Given the description of an element on the screen output the (x, y) to click on. 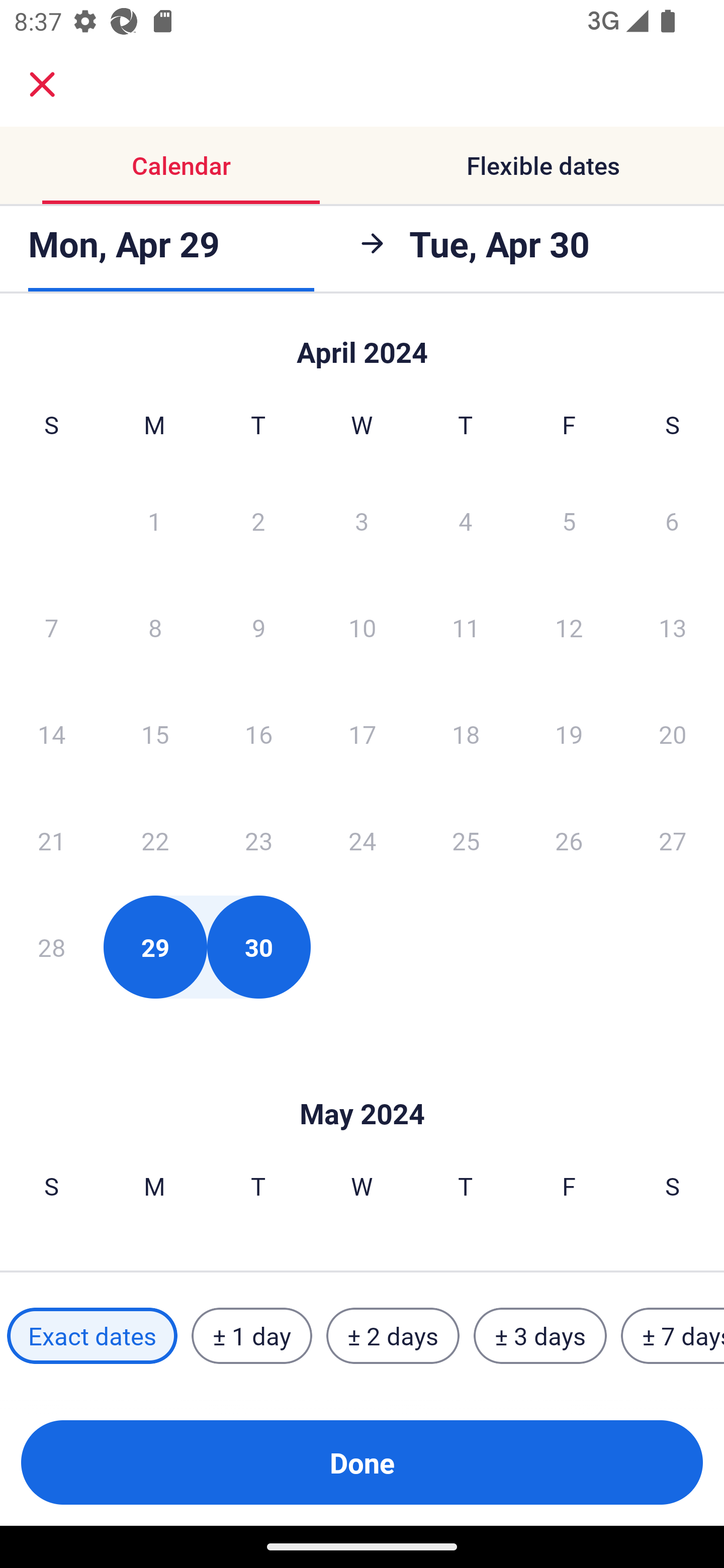
close. (42, 84)
Flexible dates (542, 164)
Skip to Done (362, 343)
1 Monday, April 1, 2024 (154, 520)
2 Tuesday, April 2, 2024 (257, 520)
3 Wednesday, April 3, 2024 (361, 520)
4 Thursday, April 4, 2024 (465, 520)
5 Friday, April 5, 2024 (568, 520)
6 Saturday, April 6, 2024 (672, 520)
7 Sunday, April 7, 2024 (51, 626)
8 Monday, April 8, 2024 (155, 626)
9 Tuesday, April 9, 2024 (258, 626)
10 Wednesday, April 10, 2024 (362, 626)
11 Thursday, April 11, 2024 (465, 626)
12 Friday, April 12, 2024 (569, 626)
13 Saturday, April 13, 2024 (672, 626)
14 Sunday, April 14, 2024 (51, 733)
15 Monday, April 15, 2024 (155, 733)
16 Tuesday, April 16, 2024 (258, 733)
17 Wednesday, April 17, 2024 (362, 733)
18 Thursday, April 18, 2024 (465, 733)
19 Friday, April 19, 2024 (569, 733)
20 Saturday, April 20, 2024 (672, 733)
21 Sunday, April 21, 2024 (51, 840)
22 Monday, April 22, 2024 (155, 840)
23 Tuesday, April 23, 2024 (258, 840)
24 Wednesday, April 24, 2024 (362, 840)
25 Thursday, April 25, 2024 (465, 840)
26 Friday, April 26, 2024 (569, 840)
27 Saturday, April 27, 2024 (672, 840)
28 Sunday, April 28, 2024 (51, 946)
Skip to Done (362, 1083)
Exact dates (92, 1335)
± 1 day (251, 1335)
± 2 days (392, 1335)
± 3 days (539, 1335)
± 7 days (672, 1335)
Done (361, 1462)
